Given the description of an element on the screen output the (x, y) to click on. 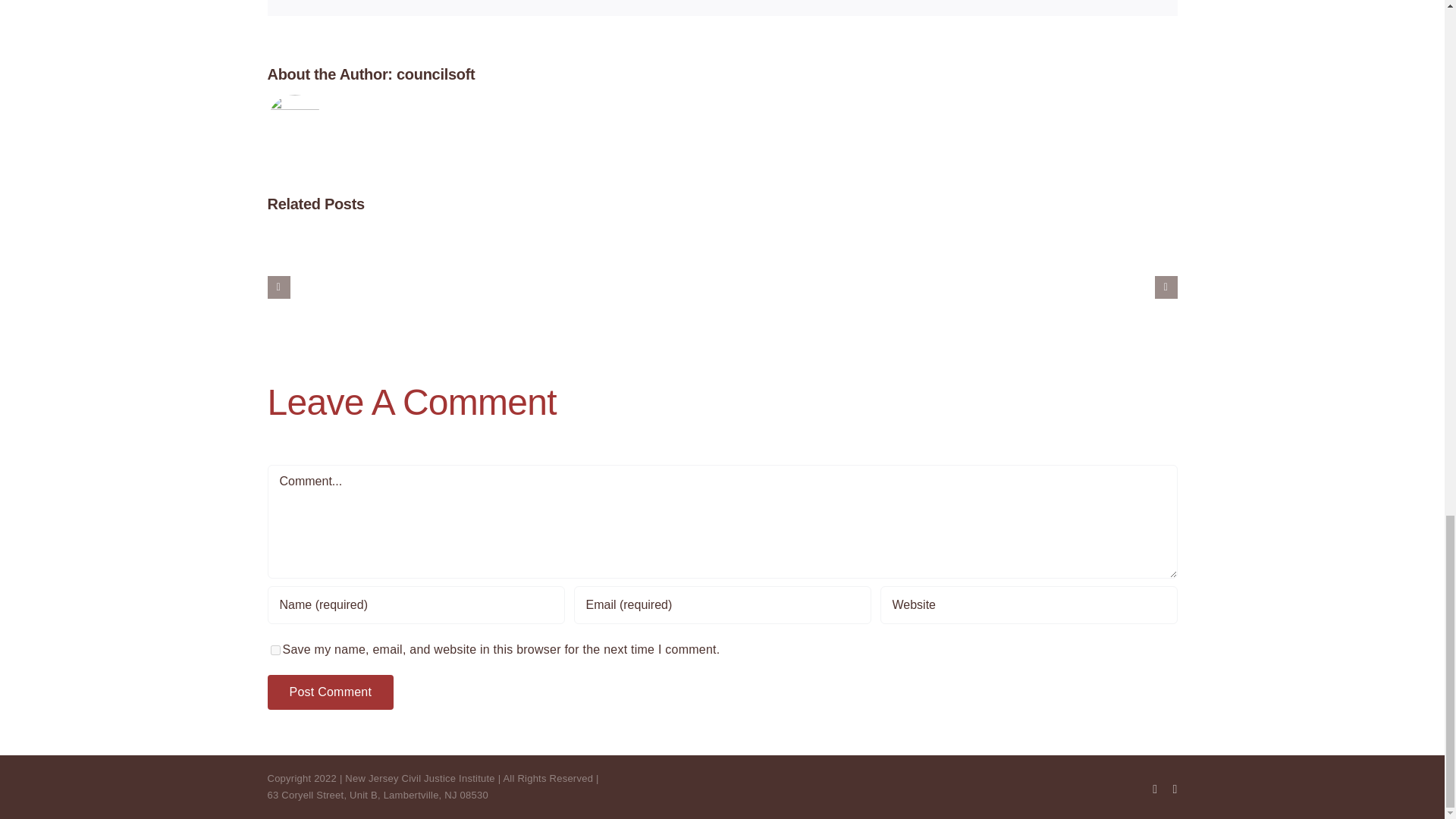
Post Comment (329, 691)
councilsoft (435, 74)
yes (274, 650)
